Given the description of an element on the screen output the (x, y) to click on. 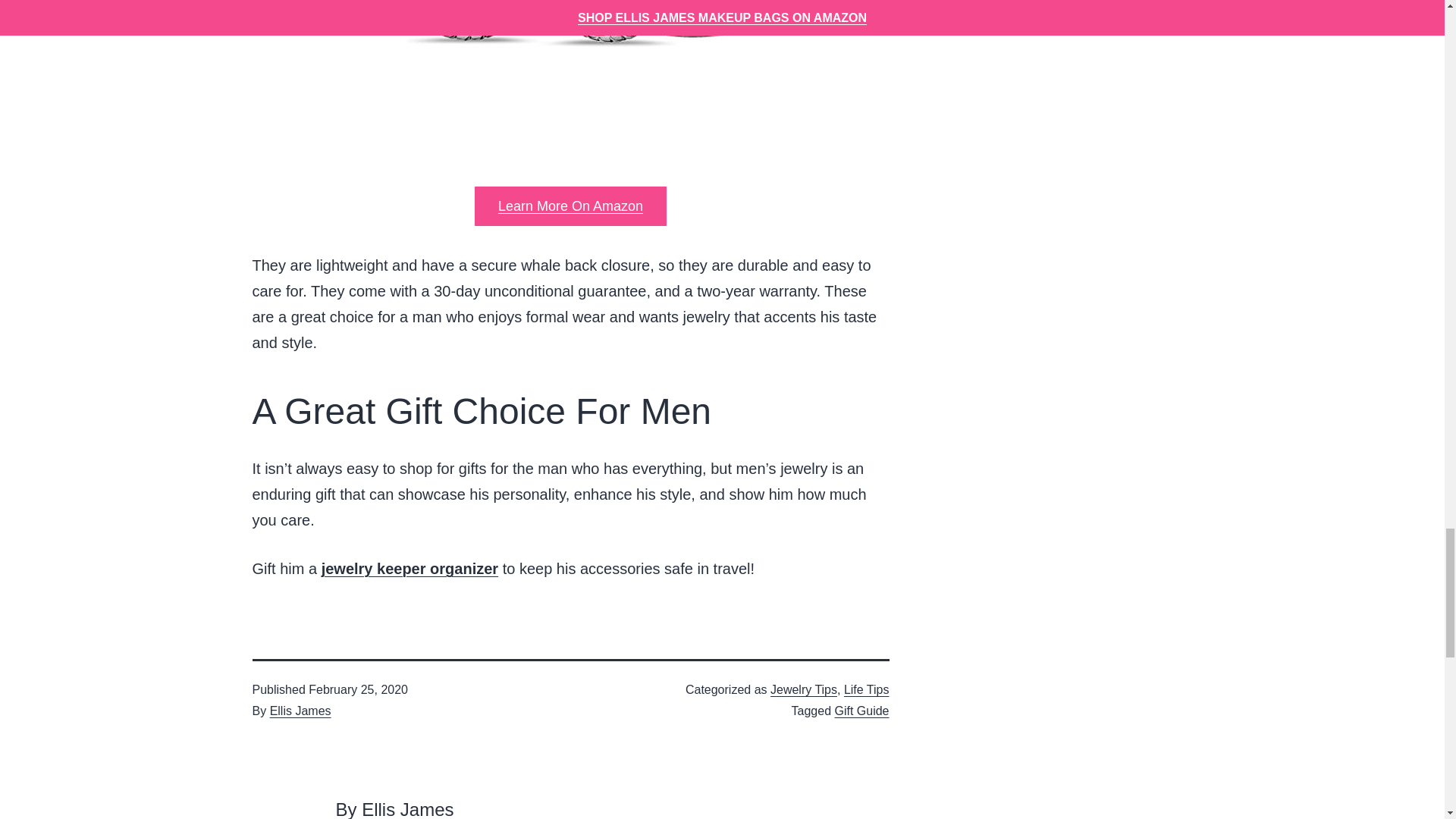
jewelry keeper organizer (409, 568)
Learn More On Amazon (570, 206)
Ellis James (300, 709)
Gift Guide (861, 709)
Life Tips (866, 689)
Jewelry Tips (803, 689)
